Given the description of an element on the screen output the (x, y) to click on. 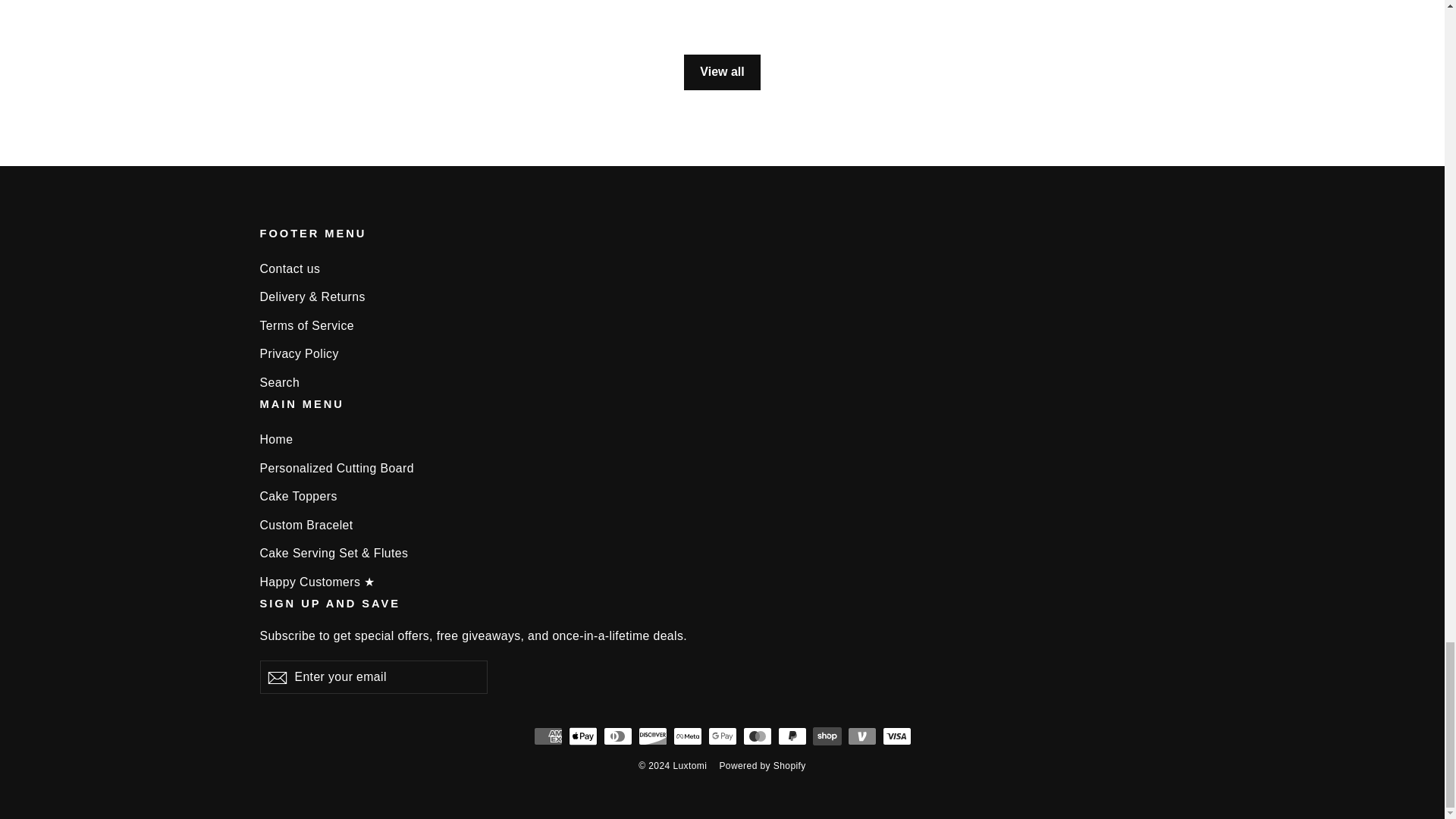
American Express (548, 736)
icon-email (276, 678)
Google Pay (721, 736)
Meta Pay (686, 736)
Diners Club (617, 736)
Discover (652, 736)
Apple Pay (582, 736)
